Given the description of an element on the screen output the (x, y) to click on. 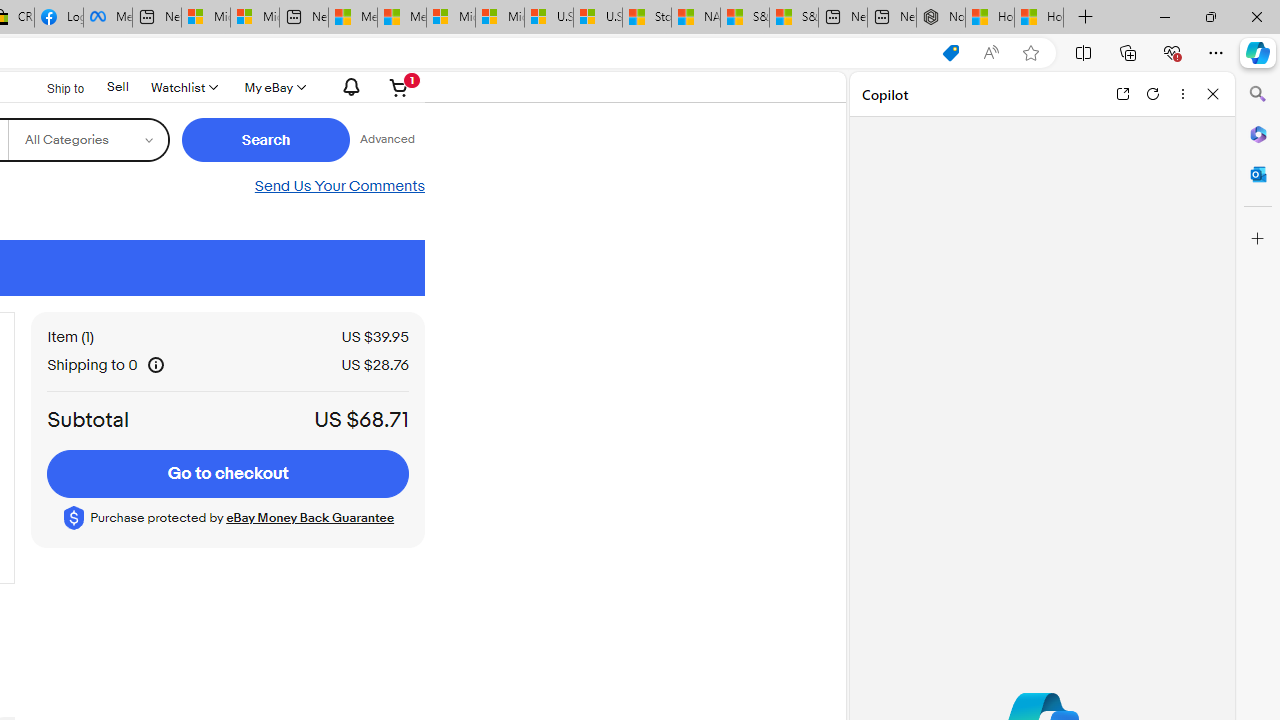
Open link in new tab (1122, 93)
Outlook (1258, 174)
Go to checkout (228, 474)
Meta Store (107, 17)
Shopping in Microsoft Edge (950, 53)
AutomationID: gh-minicart-hover (399, 87)
Sell (118, 87)
Information about shipping options and costs (155, 364)
